Given the description of an element on the screen output the (x, y) to click on. 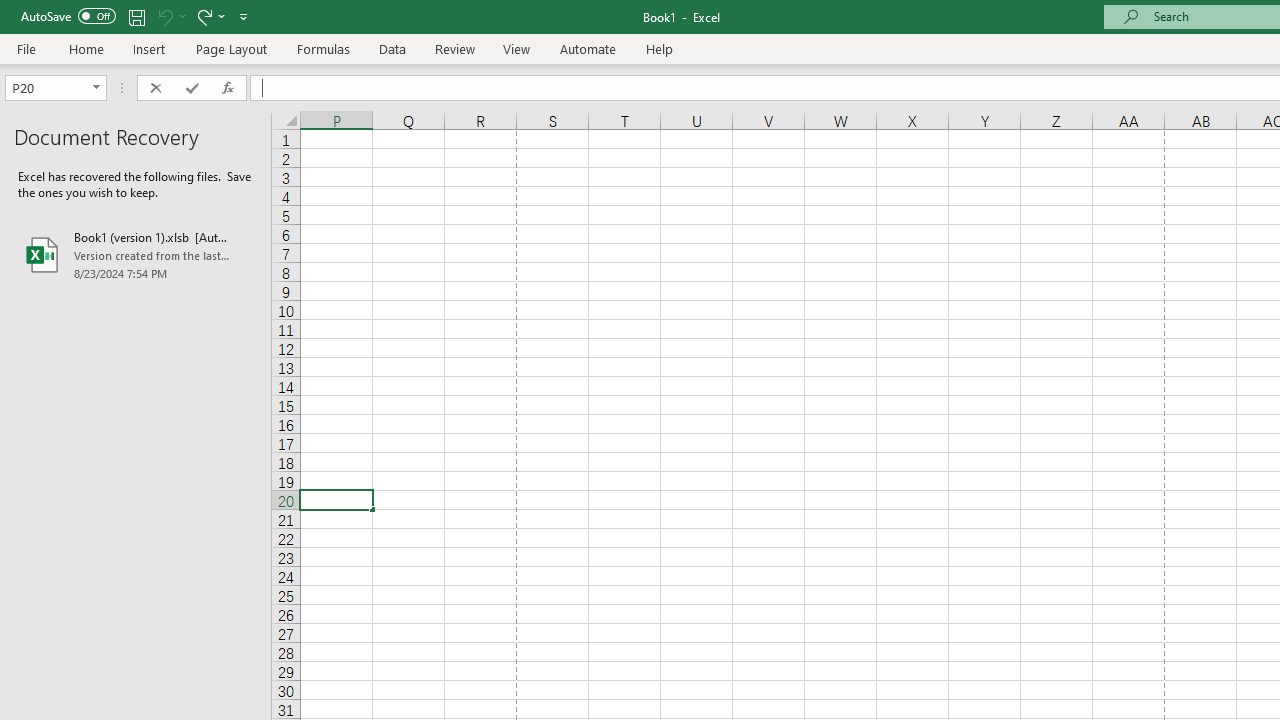
Undo (170, 15)
Page Layout (230, 48)
Redo (209, 15)
More Options (222, 15)
View (517, 48)
Data (392, 48)
Automate (588, 48)
Book1 (version 1).xlsb  [AutoRecovered] (136, 254)
System (10, 11)
System (10, 11)
